Given the description of an element on the screen output the (x, y) to click on. 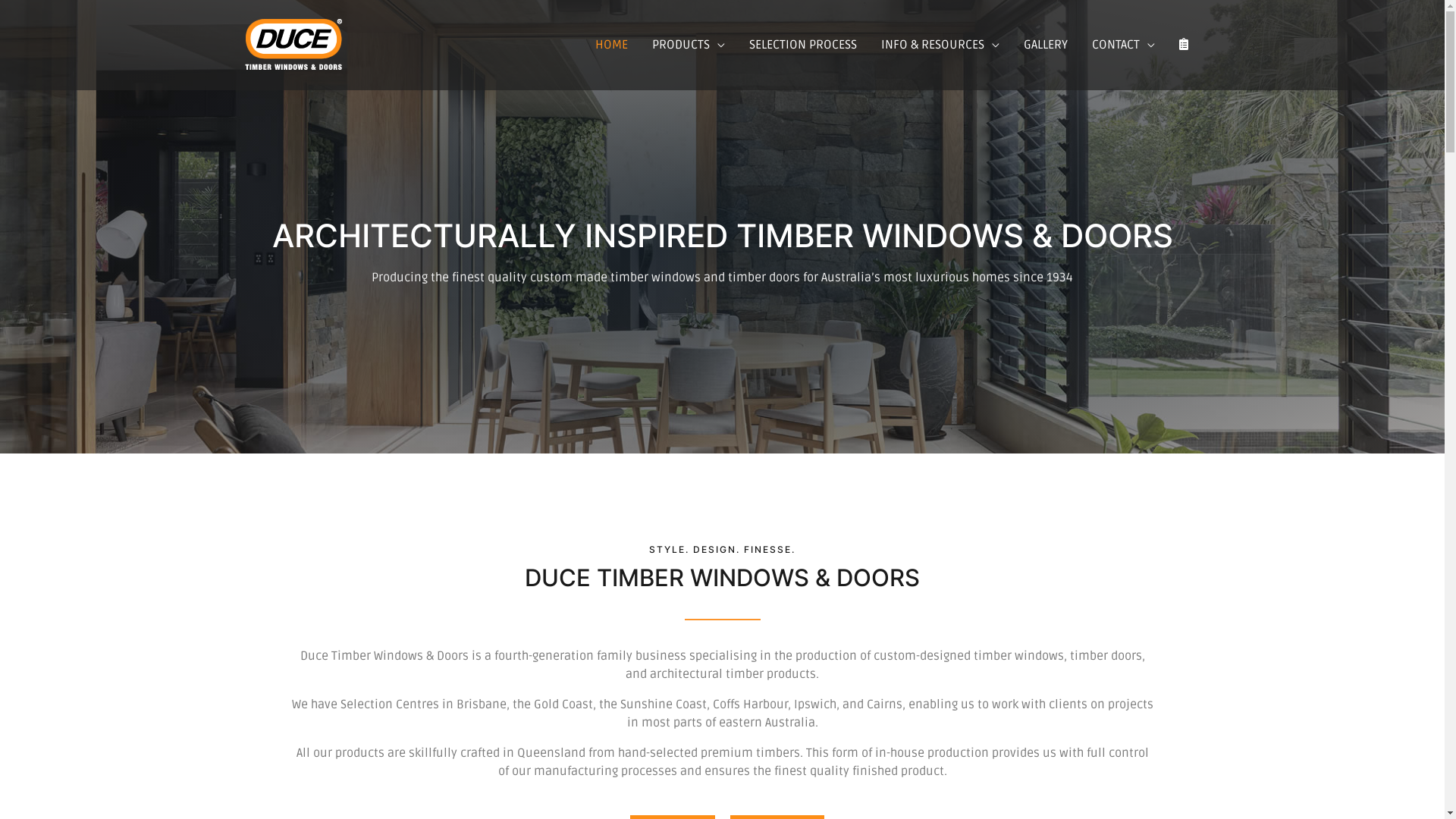
HOME Element type: text (610, 45)
SELECTION PROCESS Element type: text (803, 45)
INFO & RESOURCES Element type: text (940, 45)
CONTACT Element type: text (1123, 45)
PRODUCTS Element type: text (688, 45)
GALLERY Element type: text (1045, 45)
